Given the description of an element on the screen output the (x, y) to click on. 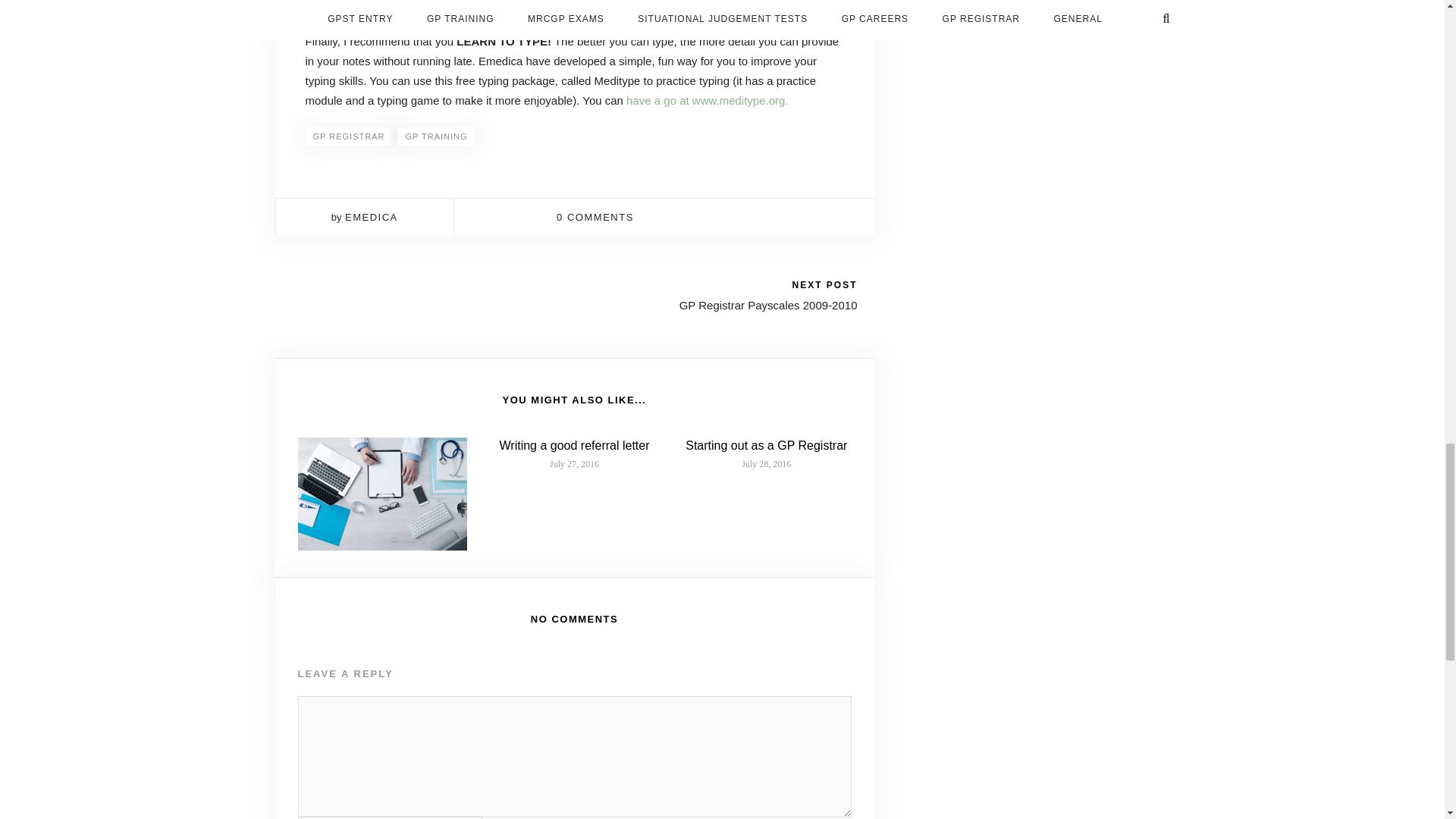
have a go at www.meditype.org. (706, 100)
GP Registrar Payscales 2009-2010 (768, 305)
GP TRAINING (435, 136)
Starting out as a GP Registrar (766, 445)
Posts by Emedica (371, 216)
EMEDICA (371, 216)
GP REGISTRAR (347, 136)
0 COMMENTS (594, 216)
Writing a good referral letter (574, 445)
